Given the description of an element on the screen output the (x, y) to click on. 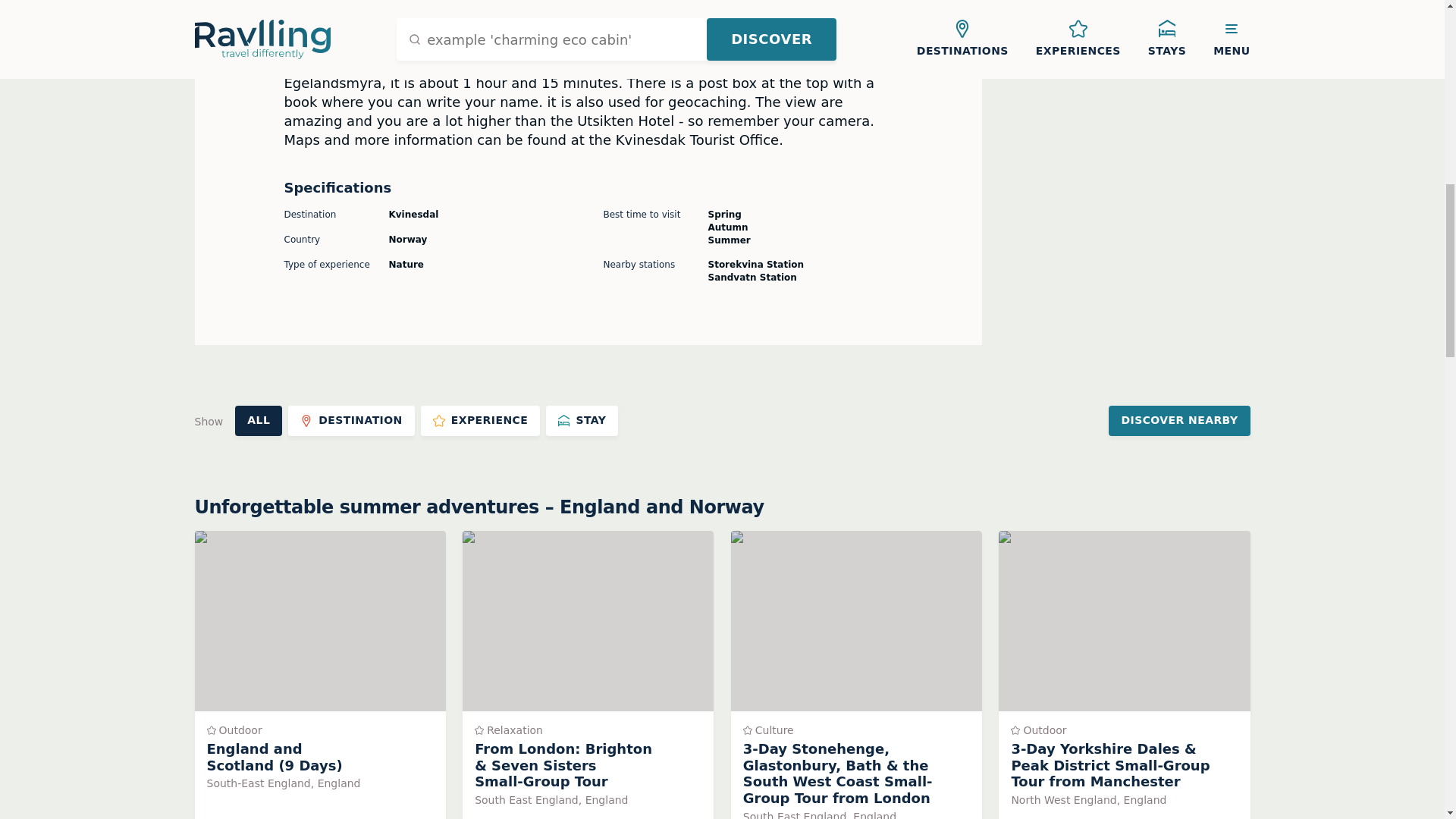
DISCOVER NEARBY (1178, 420)
ALL (258, 420)
EXPERIENCE (480, 420)
DESTINATION (351, 420)
STAY (581, 420)
